Given the description of an element on the screen output the (x, y) to click on. 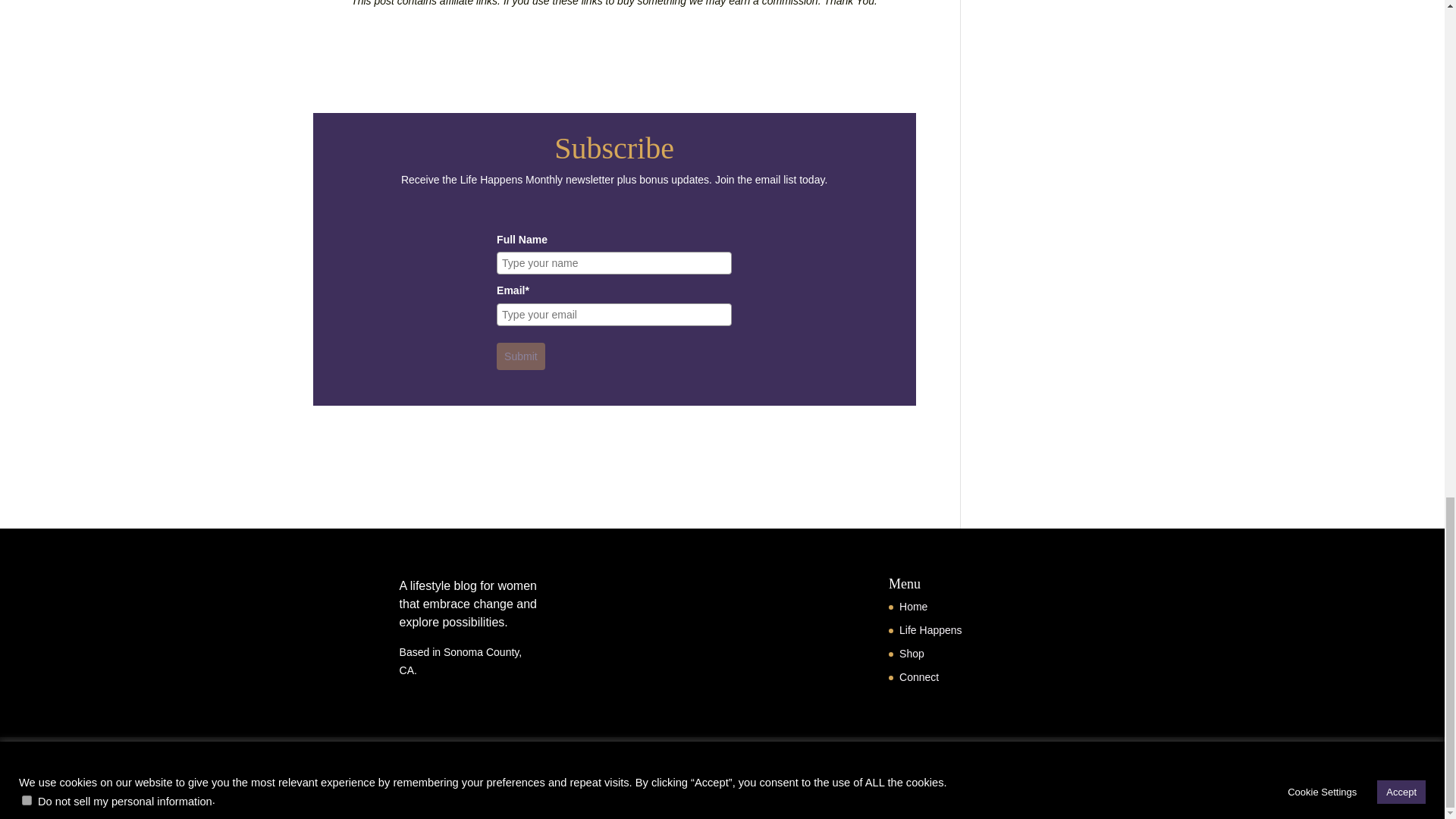
Shop (911, 653)
Life Happens (930, 630)
Cookie Policy (347, 756)
Connect (919, 676)
Home (913, 606)
Submit (520, 356)
